Given the description of an element on the screen output the (x, y) to click on. 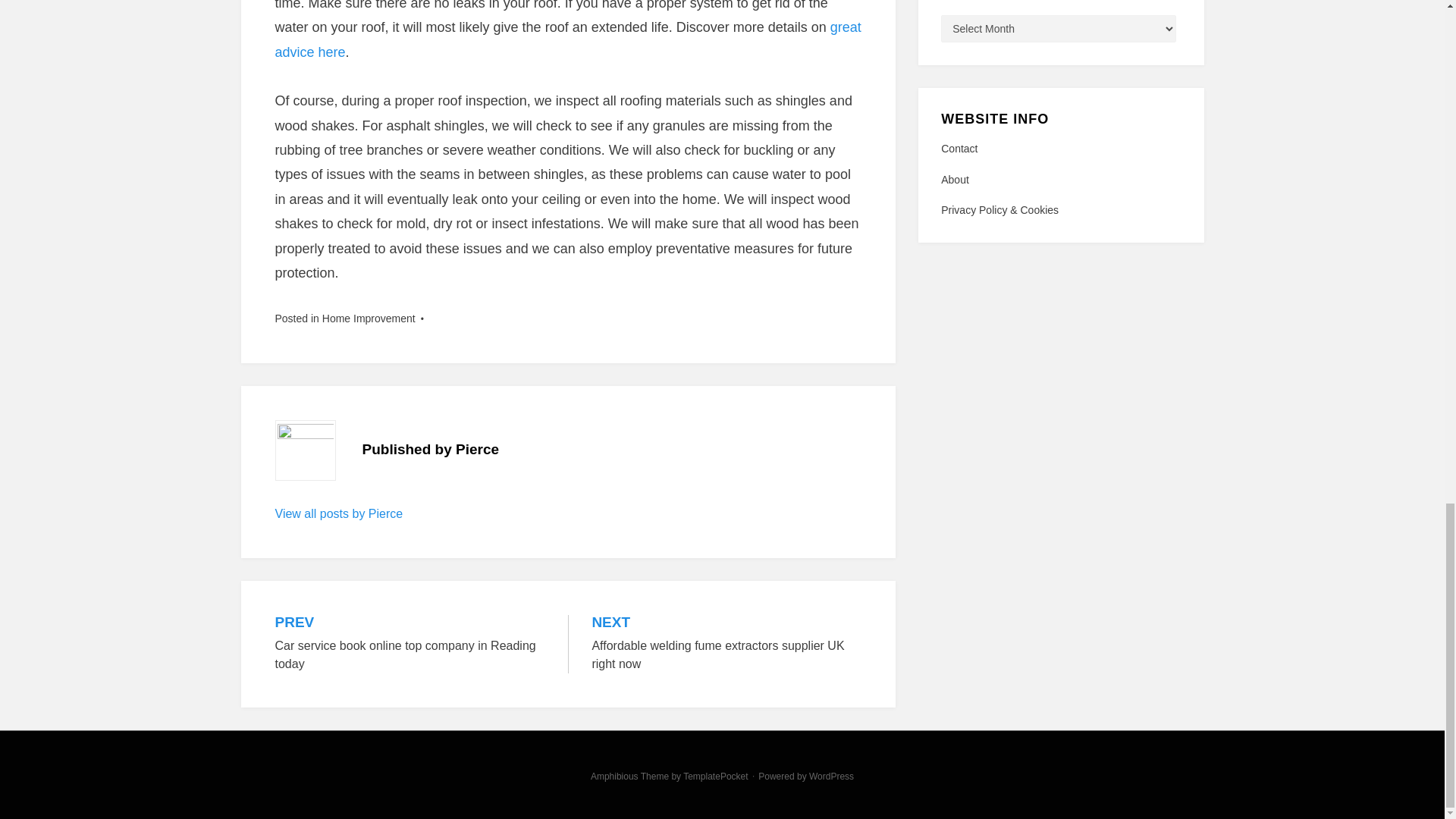
View all posts by Pierce (339, 512)
WordPress (409, 644)
About (831, 776)
WordPress (1060, 179)
great advice here (831, 776)
Home Improvement (567, 38)
Contact (367, 318)
TemplatePocket (1060, 148)
TemplatePocket (715, 776)
